Given the description of an element on the screen output the (x, y) to click on. 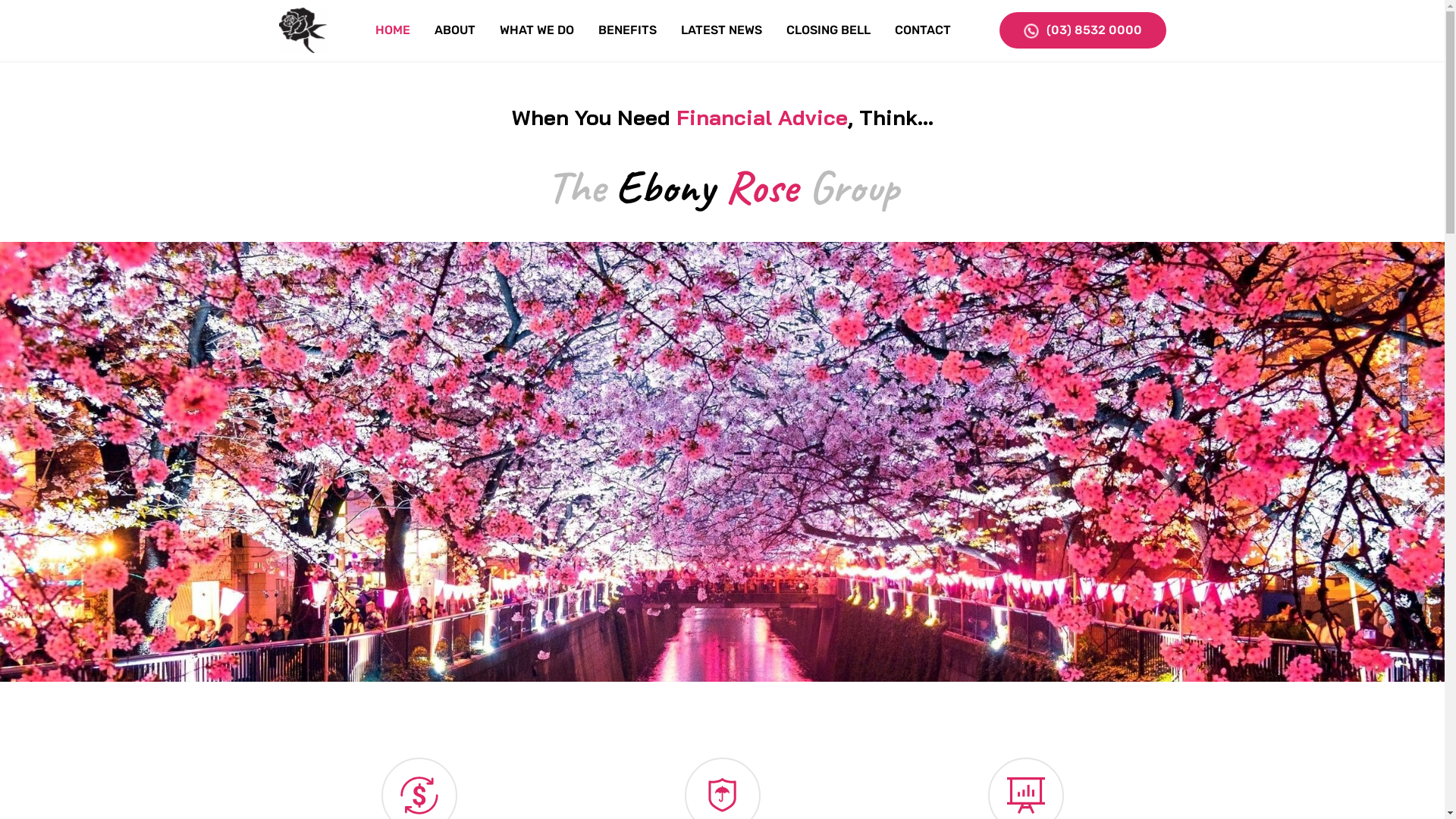
CLOSING BELL Element type: text (828, 30)
LATEST NEWS Element type: text (720, 30)
CONTACT Element type: text (921, 30)
(03) 8532 0000 Element type: text (1082, 29)
HOME Element type: text (392, 30)
BENEFITS Element type: text (627, 30)
WHAT WE DO Element type: text (536, 30)
ABOUT Element type: text (454, 30)
